Given the description of an element on the screen output the (x, y) to click on. 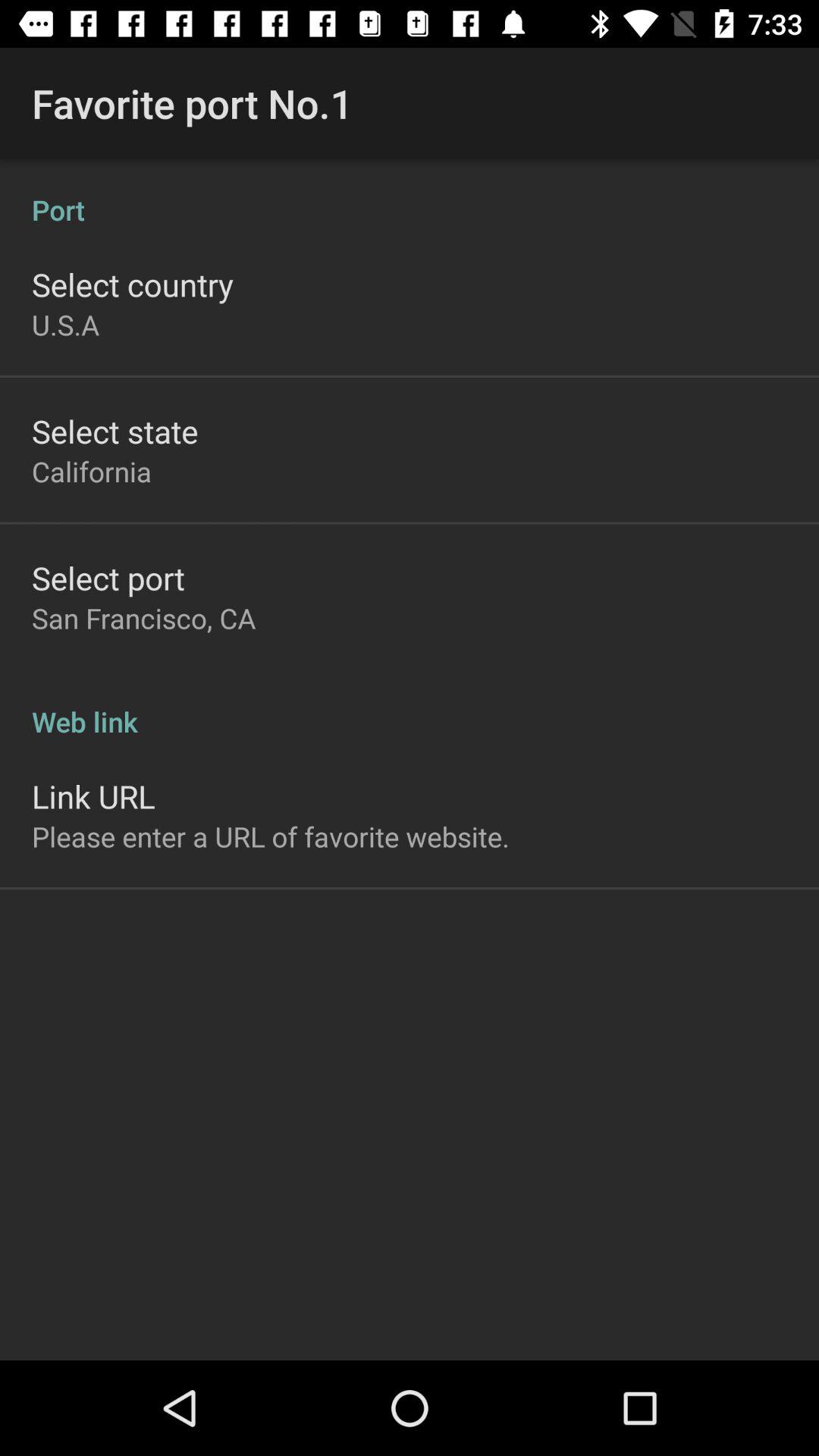
choose the item above california item (114, 430)
